Given the description of an element on the screen output the (x, y) to click on. 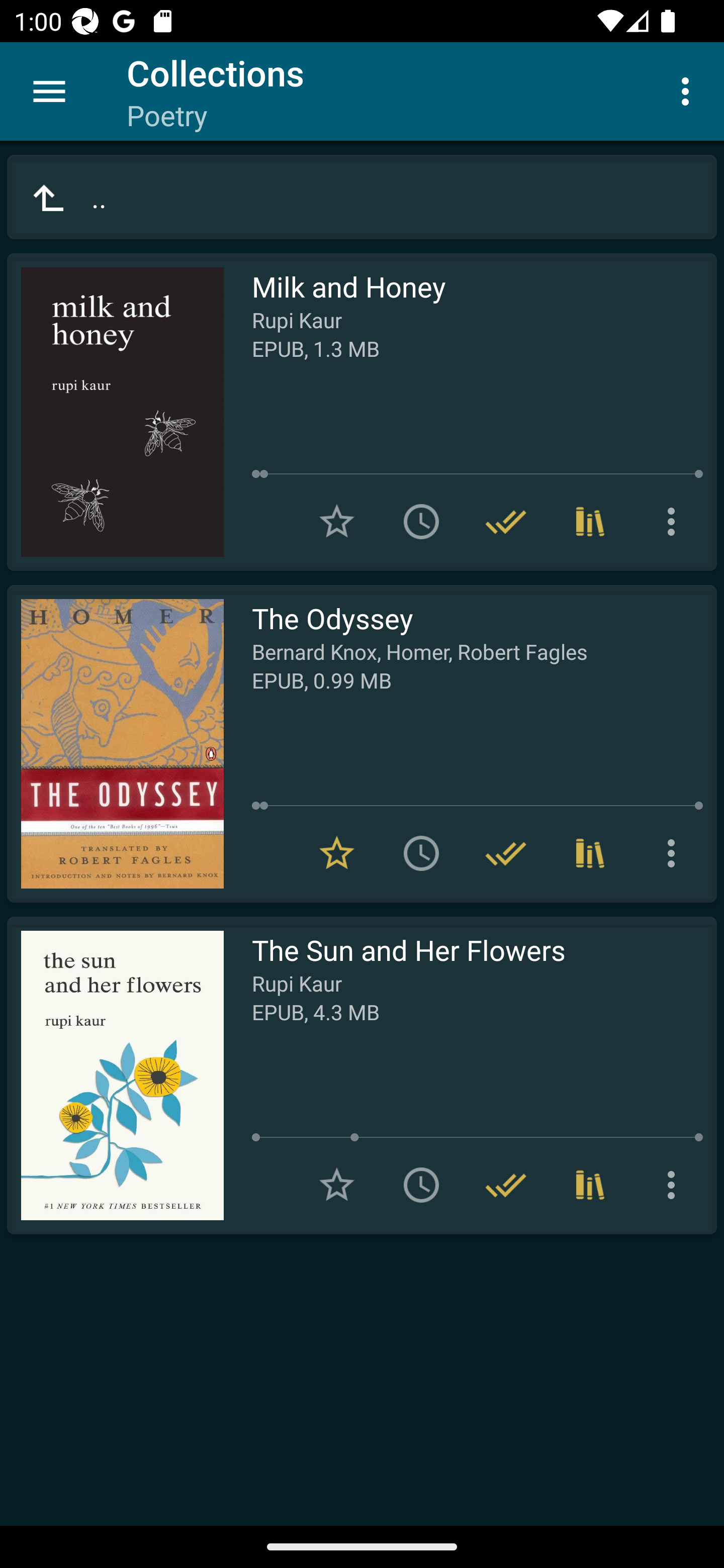
Menu (49, 91)
More options (688, 90)
.. (361, 197)
Read Milk and Honey (115, 412)
Add to Favorites (336, 521)
Add to To read (421, 521)
Remove from Have read (505, 521)
Collections (3) (590, 521)
More options (674, 521)
Read The Odyssey (115, 743)
Remove from Favorites (336, 852)
Add to To read (421, 852)
Remove from Have read (505, 852)
Collections (3) (590, 852)
More options (674, 852)
Read The Sun and Her Flowers (115, 1075)
Add to Favorites (336, 1185)
Add to To read (421, 1185)
Remove from Have read (505, 1185)
Collections (1) (590, 1185)
More options (674, 1185)
